Given the description of an element on the screen output the (x, y) to click on. 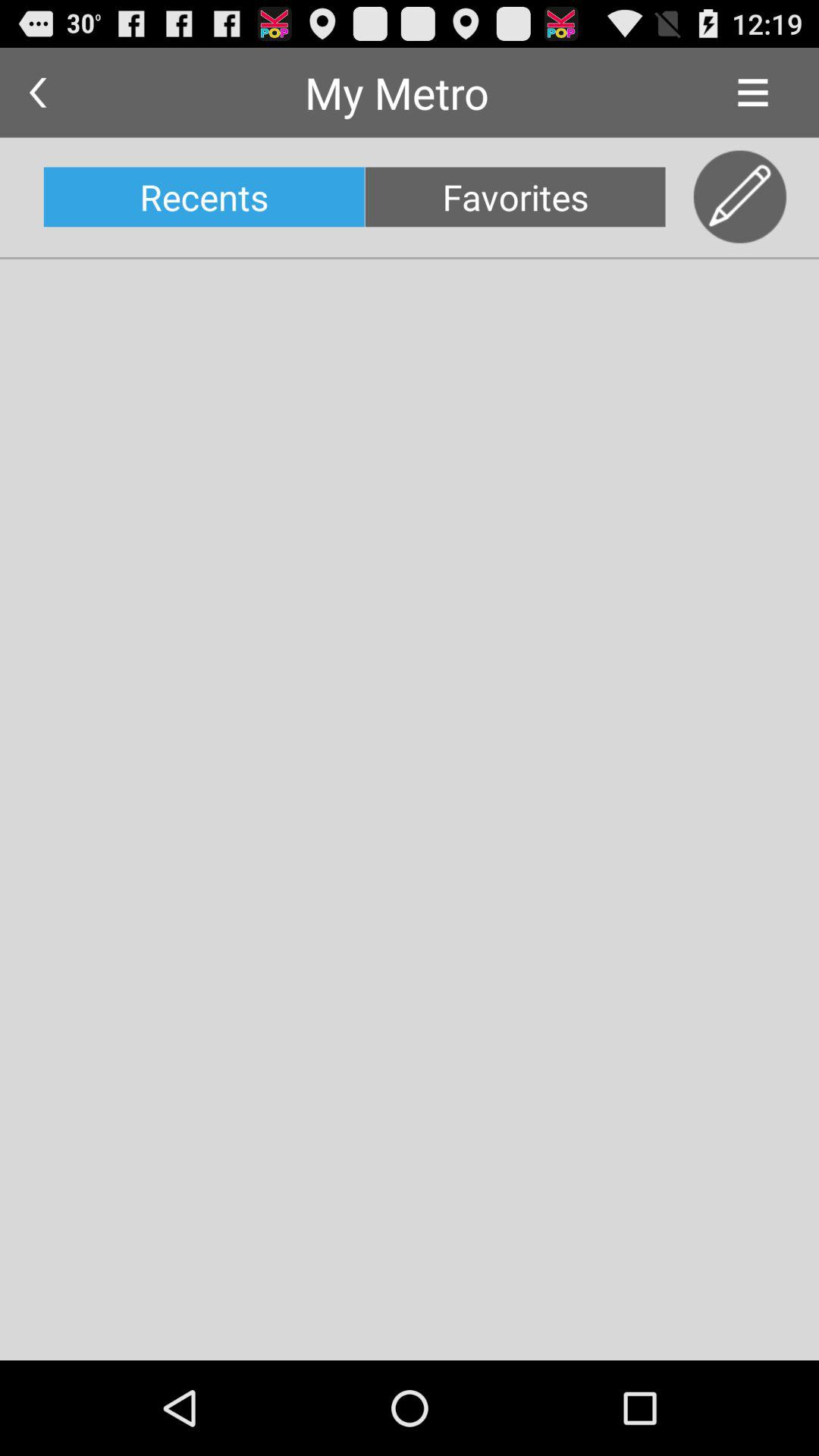
click the app to the right of my metro app (752, 92)
